Given the description of an element on the screen output the (x, y) to click on. 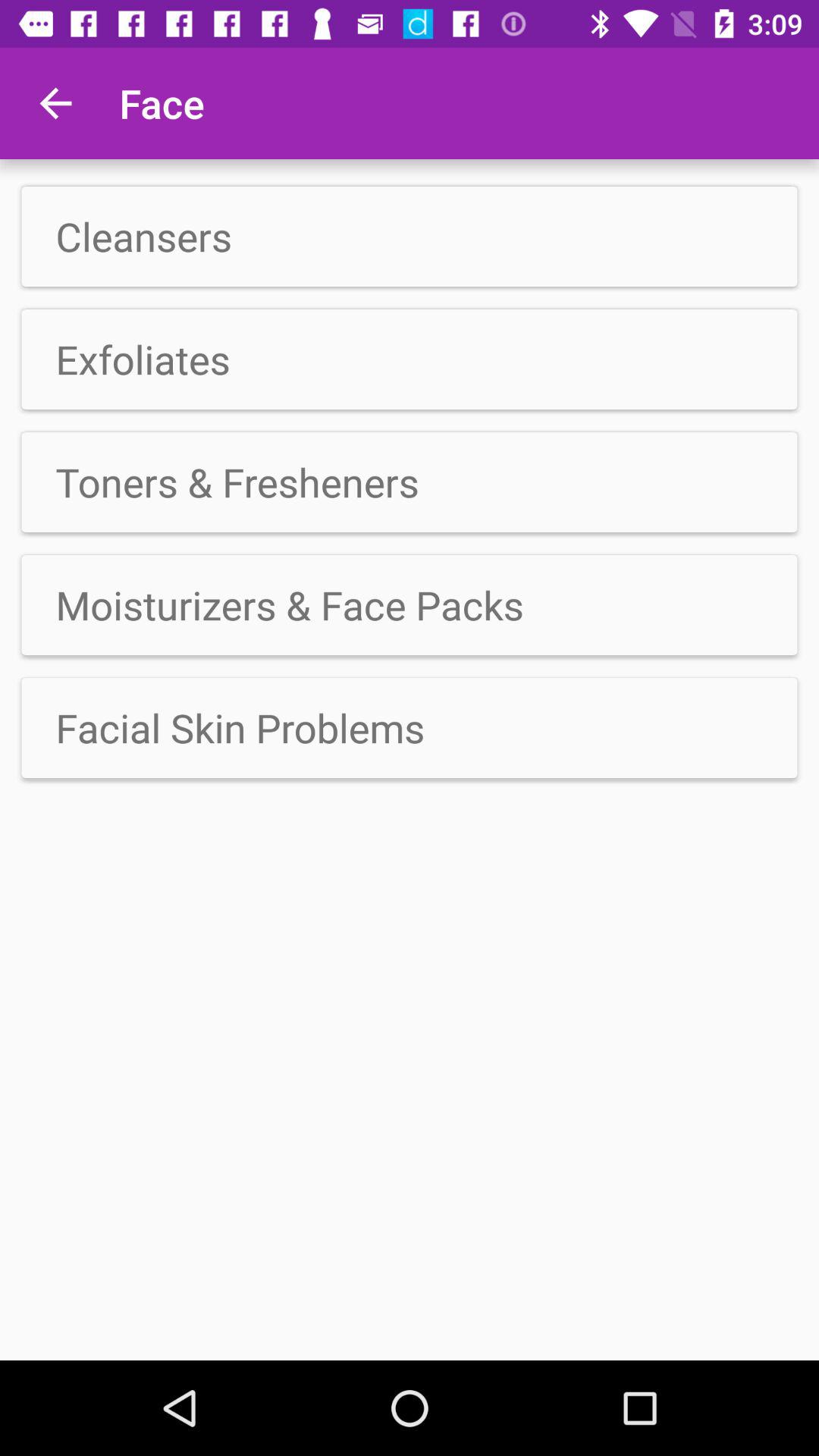
click cleansers app (409, 236)
